Given the description of an element on the screen output the (x, y) to click on. 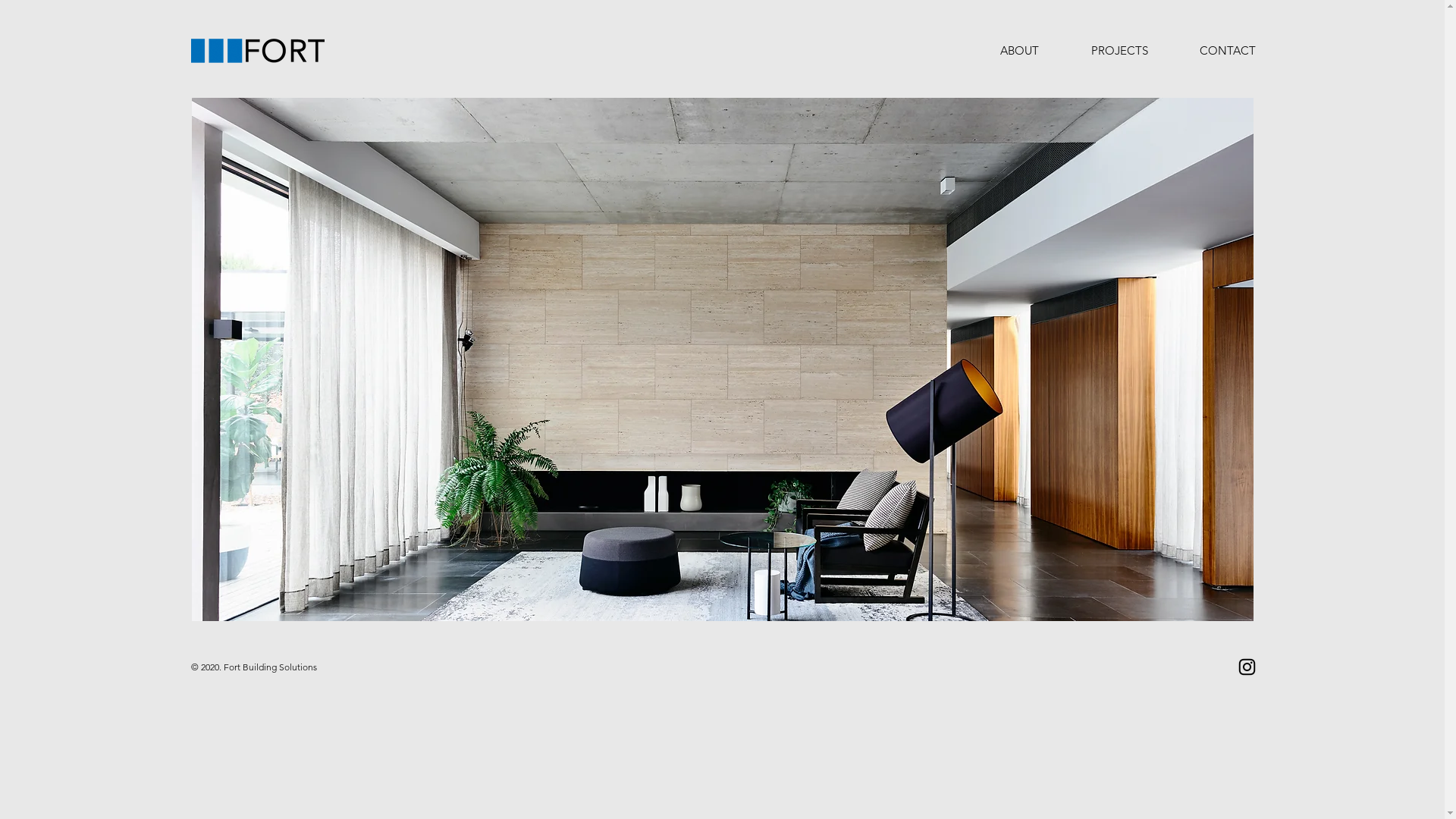
CONTACT Element type: text (1227, 50)
PROJECTS Element type: text (1118, 50)
ABOUT Element type: text (1018, 50)
